Given the description of an element on the screen output the (x, y) to click on. 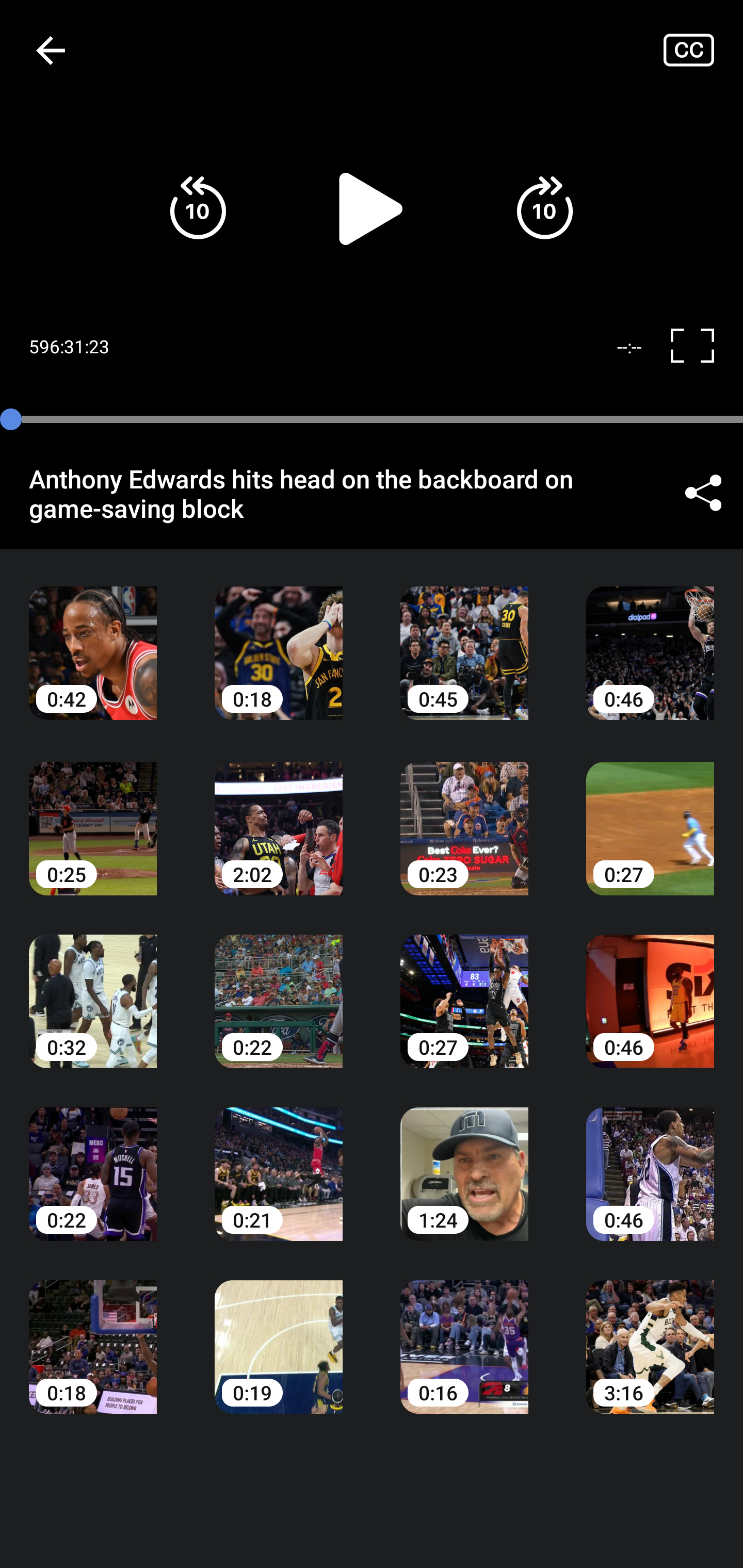
Navigate up (50, 50)
Closed captions  (703, 49)
Rewind 10 seconds  (197, 208)
Fast forward 10 seconds  (544, 208)
Play (371, 208)
Fullscreen  (699, 346)
Share © (703, 493)
0:42 (92, 637)
0:18 (278, 637)
0:45 (464, 637)
0:46 (650, 637)
0:25 (92, 813)
2:02 (278, 813)
0:23 (464, 813)
0:27 (650, 813)
0:32 (92, 987)
0:22 (278, 987)
0:27 (464, 987)
0:46 (650, 987)
0:22 (92, 1160)
0:21 (278, 1160)
1:24 (464, 1160)
0:46 (650, 1160)
0:18 (92, 1332)
0:19 (278, 1332)
0:16 (464, 1332)
3:16 (650, 1332)
